Given the description of an element on the screen output the (x, y) to click on. 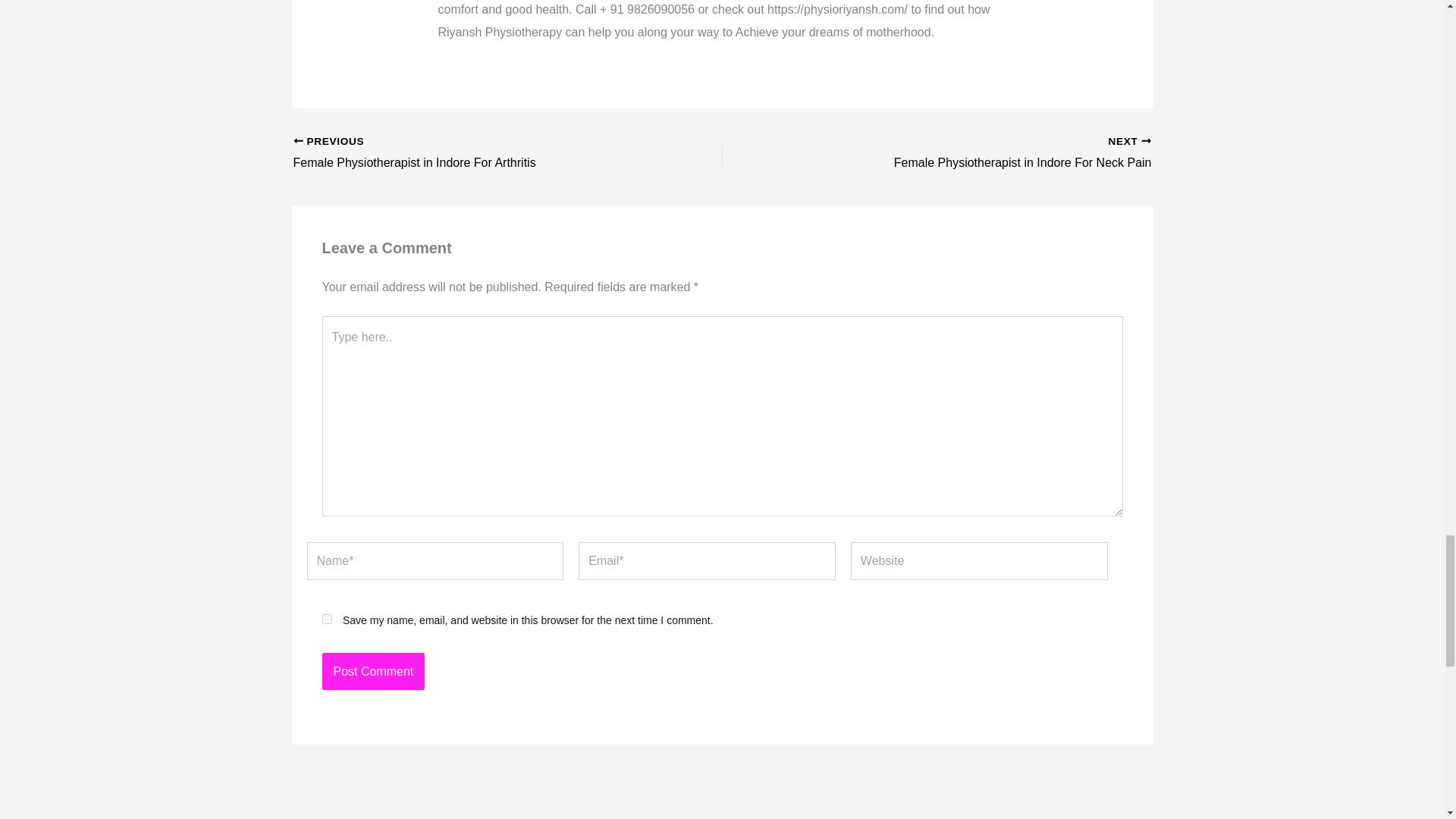
Post Comment (373, 671)
Female Physiotherapist in Indore For Neck Pain (464, 153)
Female Physiotherapist in Indore For Arthritis (978, 153)
yes (464, 153)
Post Comment (326, 619)
